Given the description of an element on the screen output the (x, y) to click on. 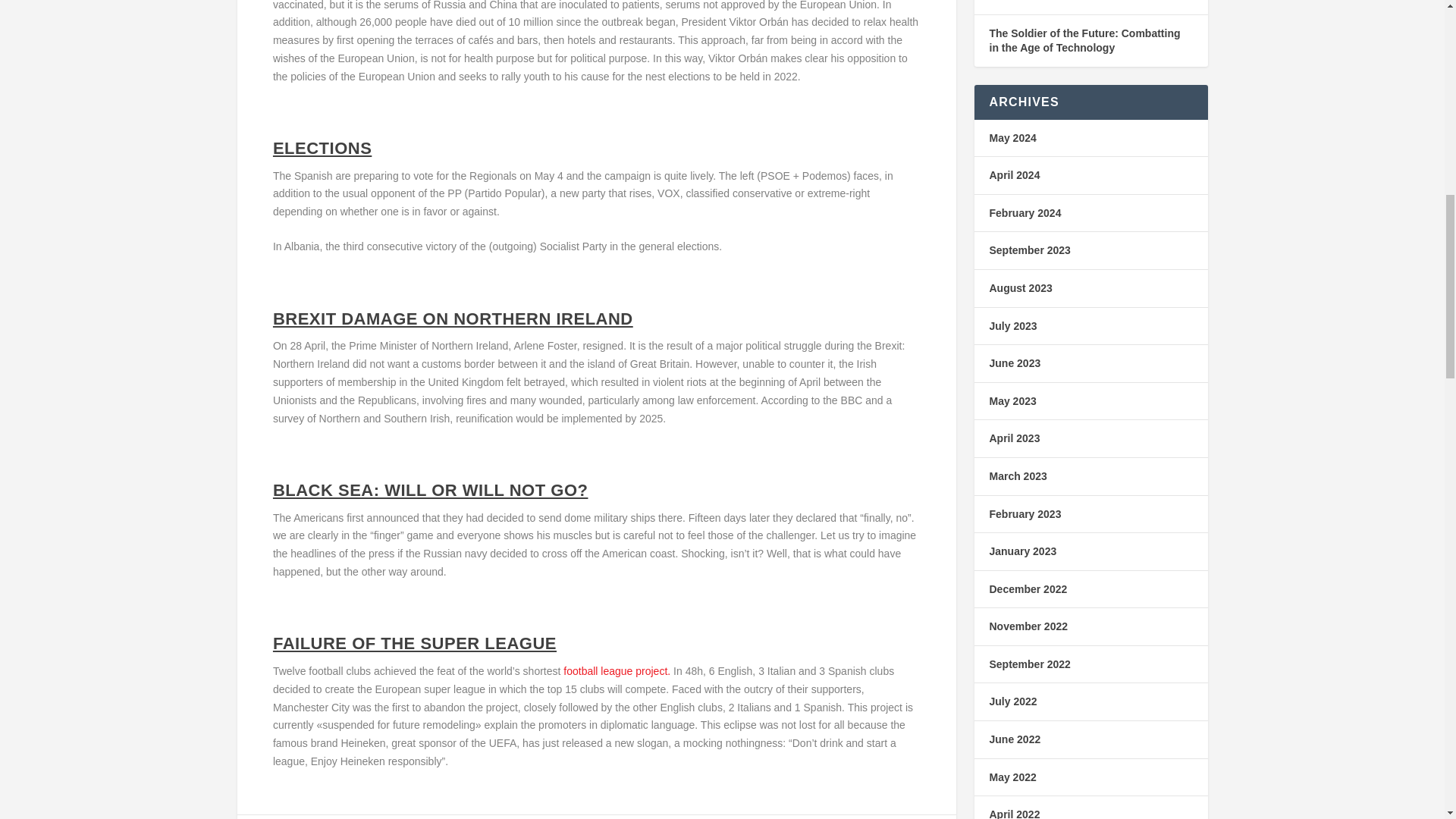
football league project. (616, 671)
